Given the description of an element on the screen output the (x, y) to click on. 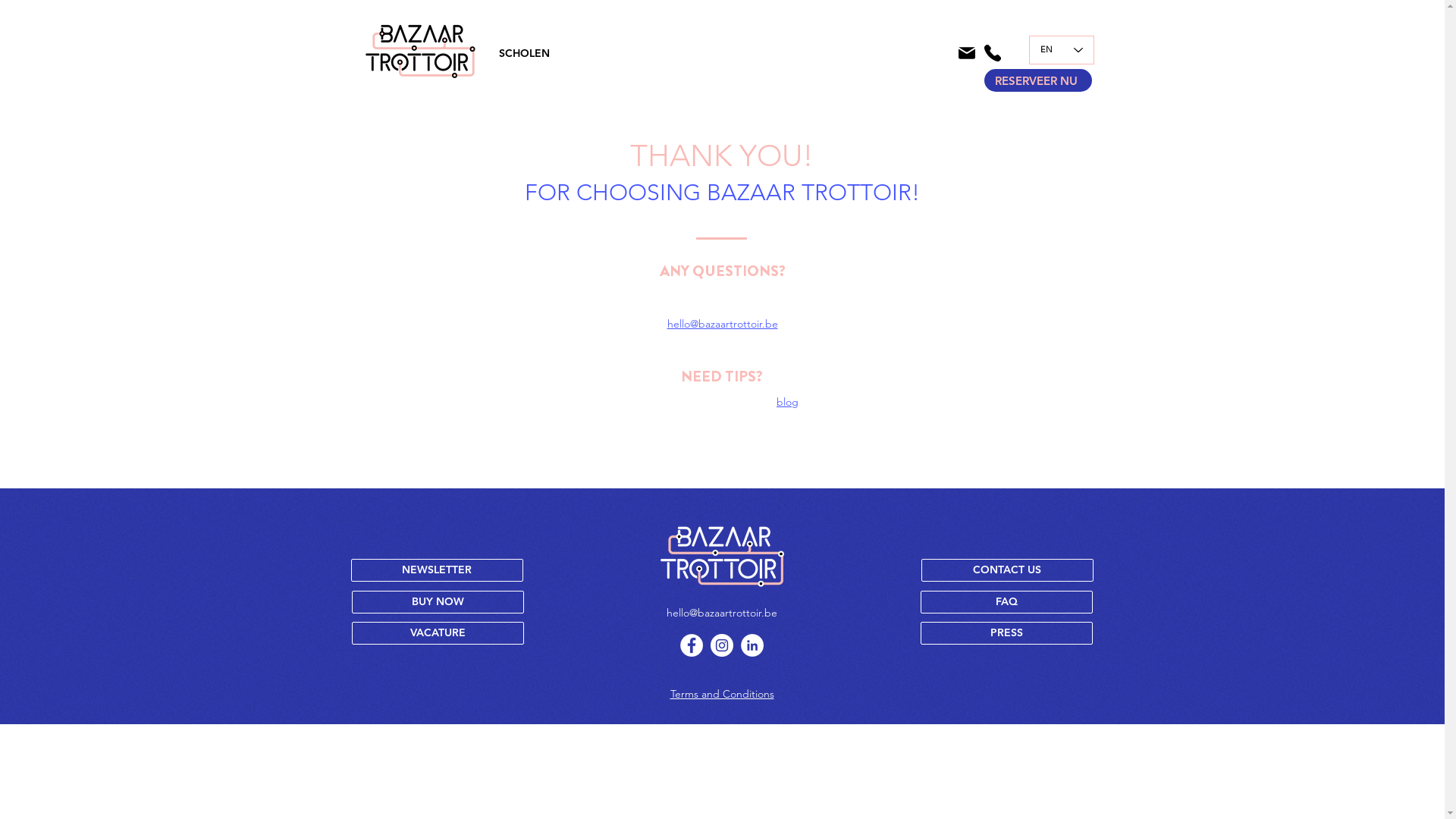
Terms and Conditions Element type: text (722, 693)
FAQ Element type: text (1006, 601)
CONTACT US Element type: text (1006, 569)
hello@bazaartrottoir.be Element type: text (722, 323)
BUY NOW Element type: text (437, 601)
PRESS Element type: text (1006, 632)
SCHOLEN Element type: text (523, 52)
NEWSLETTER Element type: text (436, 569)
RESERVEER NU Element type: text (1038, 80)
blog Element type: text (788, 401)
VACATURE Element type: text (437, 632)
hello@bazaartrottoir.be Element type: text (721, 612)
